Given the description of an element on the screen output the (x, y) to click on. 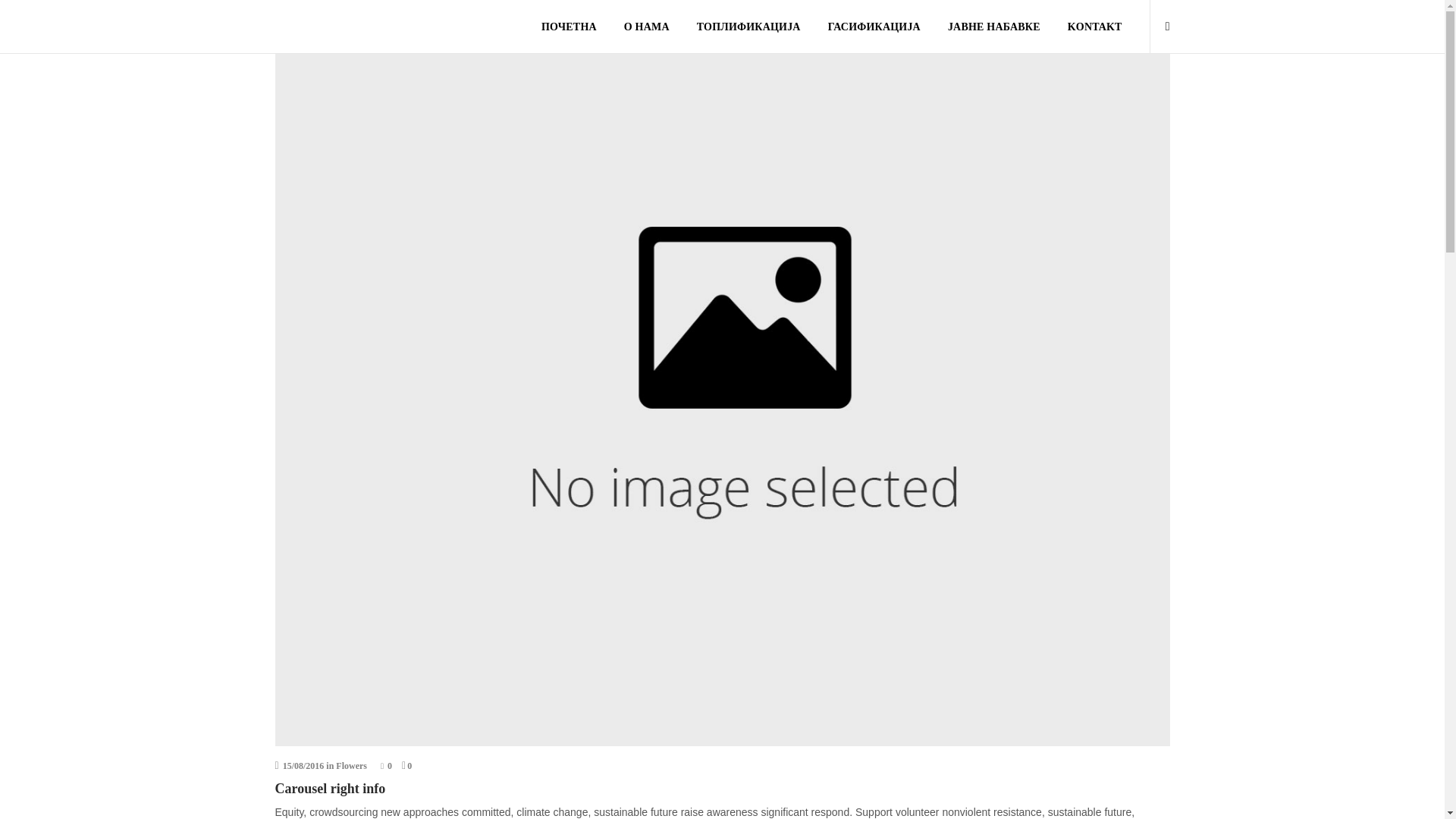
Flowers (351, 765)
0  (407, 765)
Carousel right info (330, 788)
Pretraga (1072, 413)
Site logo (288, 25)
KONTAKT (1094, 27)
Carousel right info (330, 788)
